Given the description of an element on the screen output the (x, y) to click on. 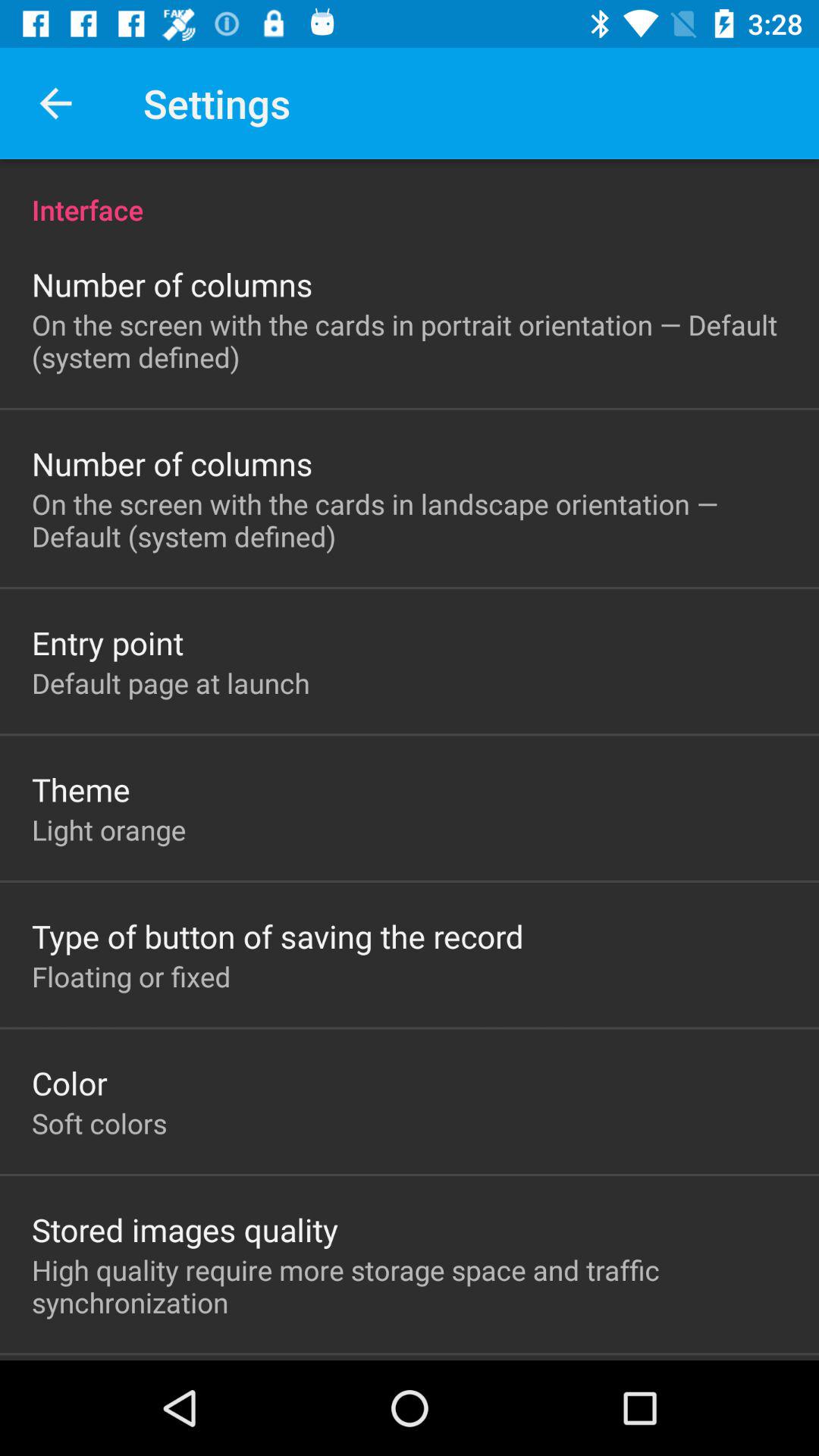
press the stored images quality (184, 1229)
